Given the description of an element on the screen output the (x, y) to click on. 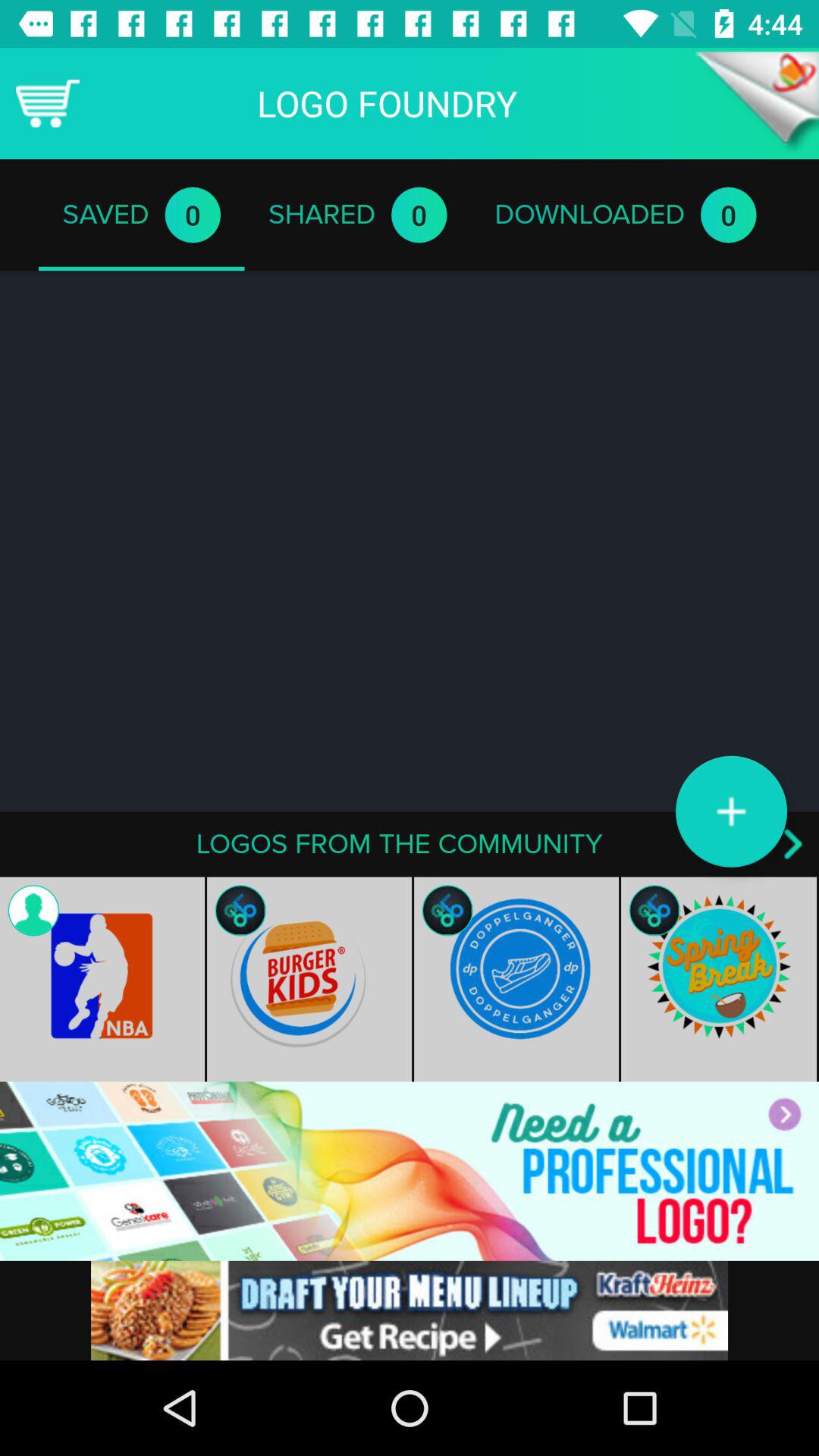
add an item (731, 811)
